Given the description of an element on the screen output the (x, y) to click on. 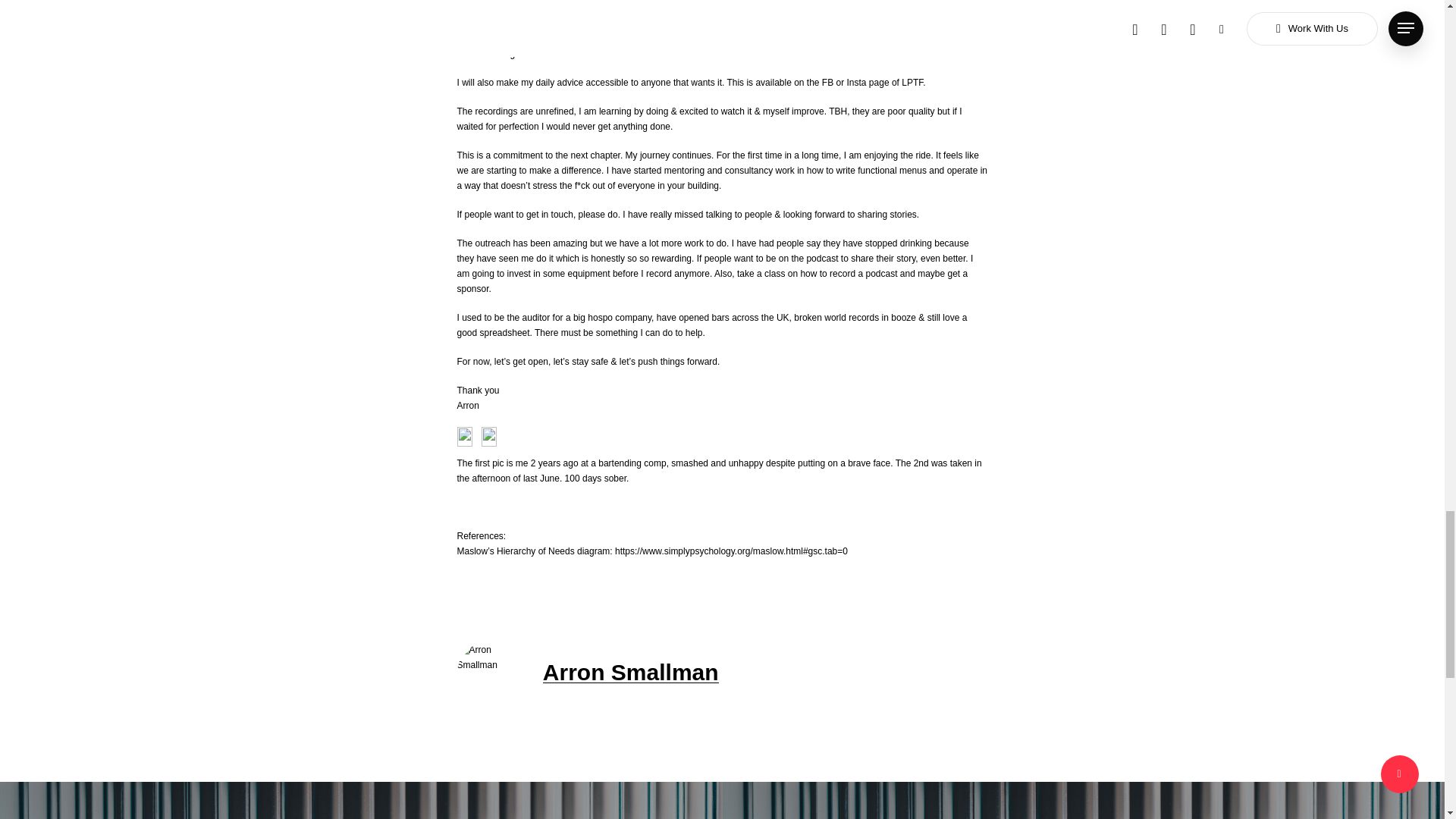
Arron Smallman (631, 672)
